Given the description of an element on the screen output the (x, y) to click on. 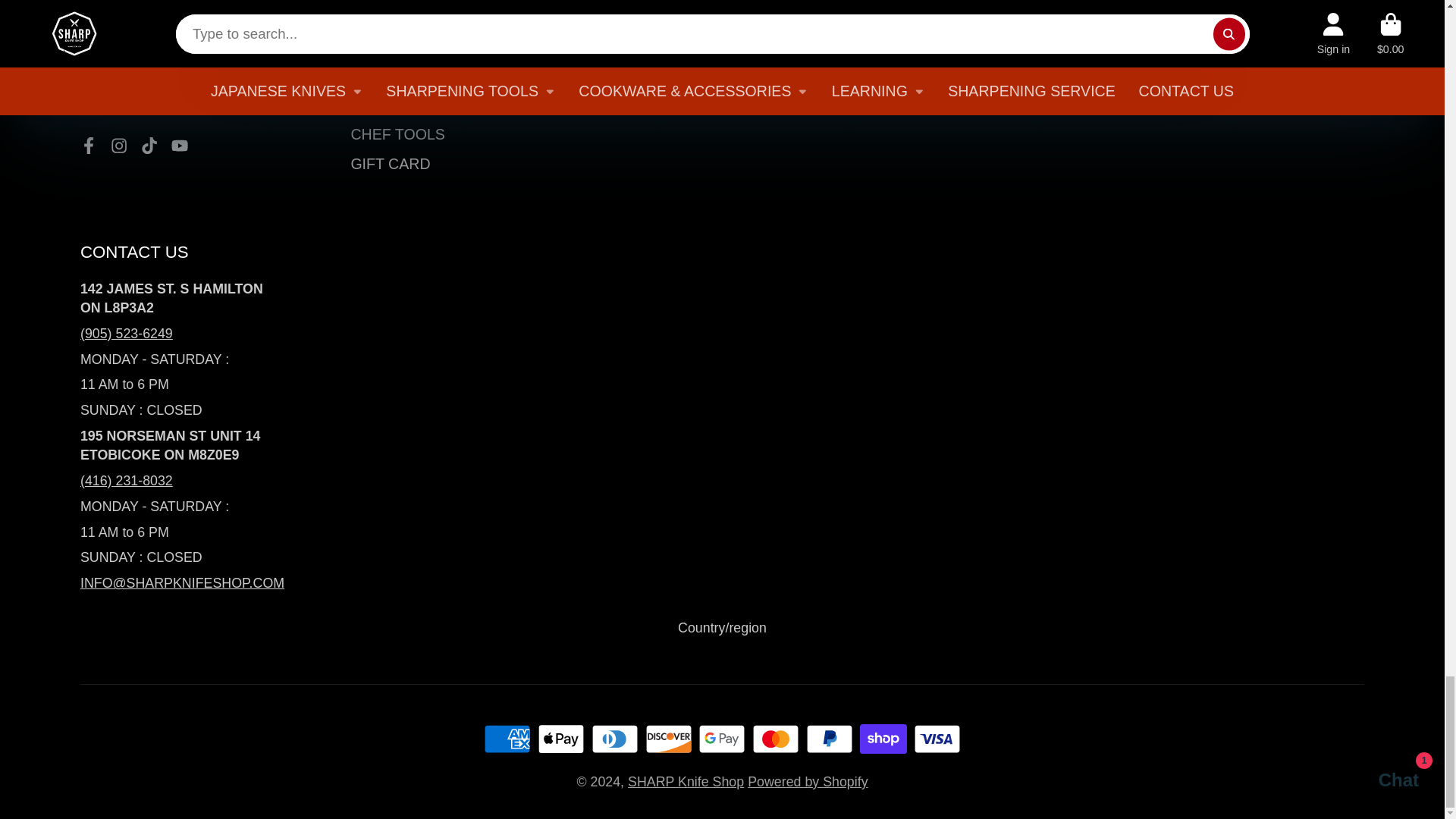
Discover (668, 738)
Apple Pay (561, 738)
Diners Club (615, 738)
American Express (507, 738)
